Given the description of an element on the screen output the (x, y) to click on. 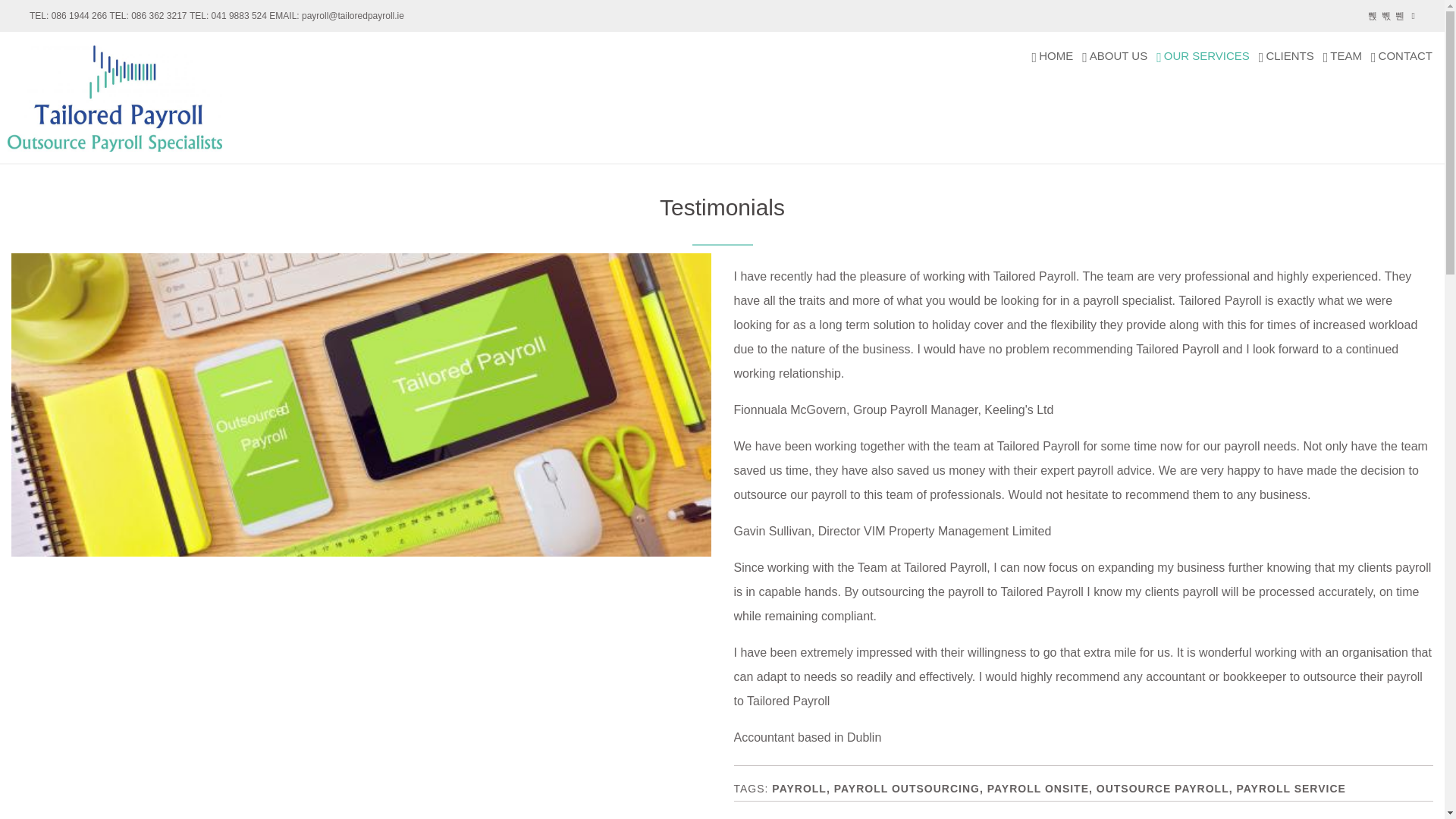
086 362 3217 (147, 15)
Testimonials (721, 207)
041 9883 524 (227, 15)
HOME (1053, 55)
086 1944 266 (67, 15)
OUR SERVICES (1202, 55)
CONTACT (1401, 55)
ABOUT US (1114, 55)
CLIENTS (1286, 55)
TEAM (1342, 55)
